Given the description of an element on the screen output the (x, y) to click on. 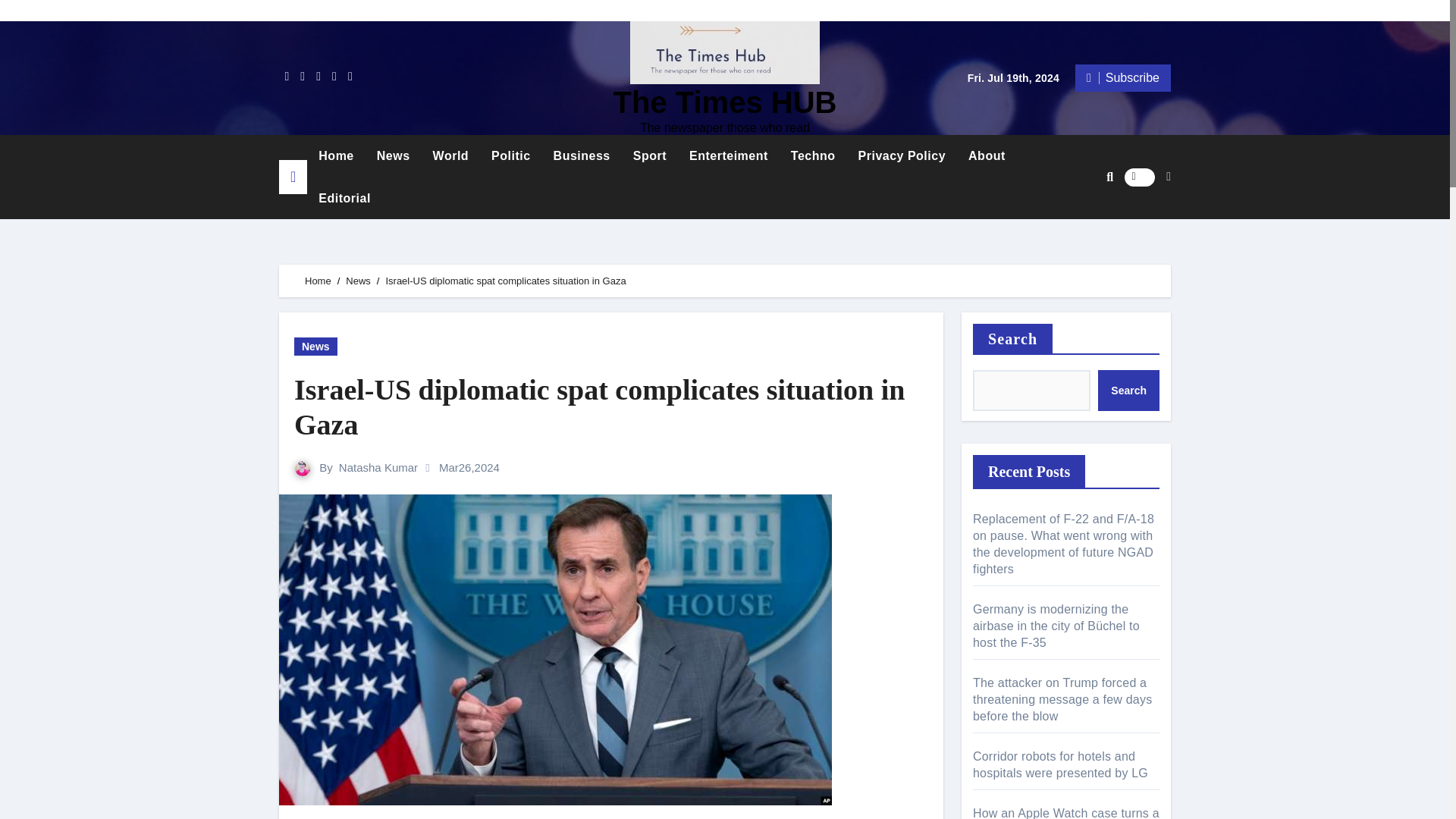
Techno (812, 155)
Editorial (344, 198)
Subscribe (1122, 77)
About (986, 155)
Sport (649, 155)
News (393, 155)
Natasha Kumar (378, 467)
Privacy Policy (902, 155)
Politic (510, 155)
Techno (812, 155)
World (451, 155)
About (986, 155)
Enterteiment (728, 155)
World (451, 155)
